Given the description of an element on the screen output the (x, y) to click on. 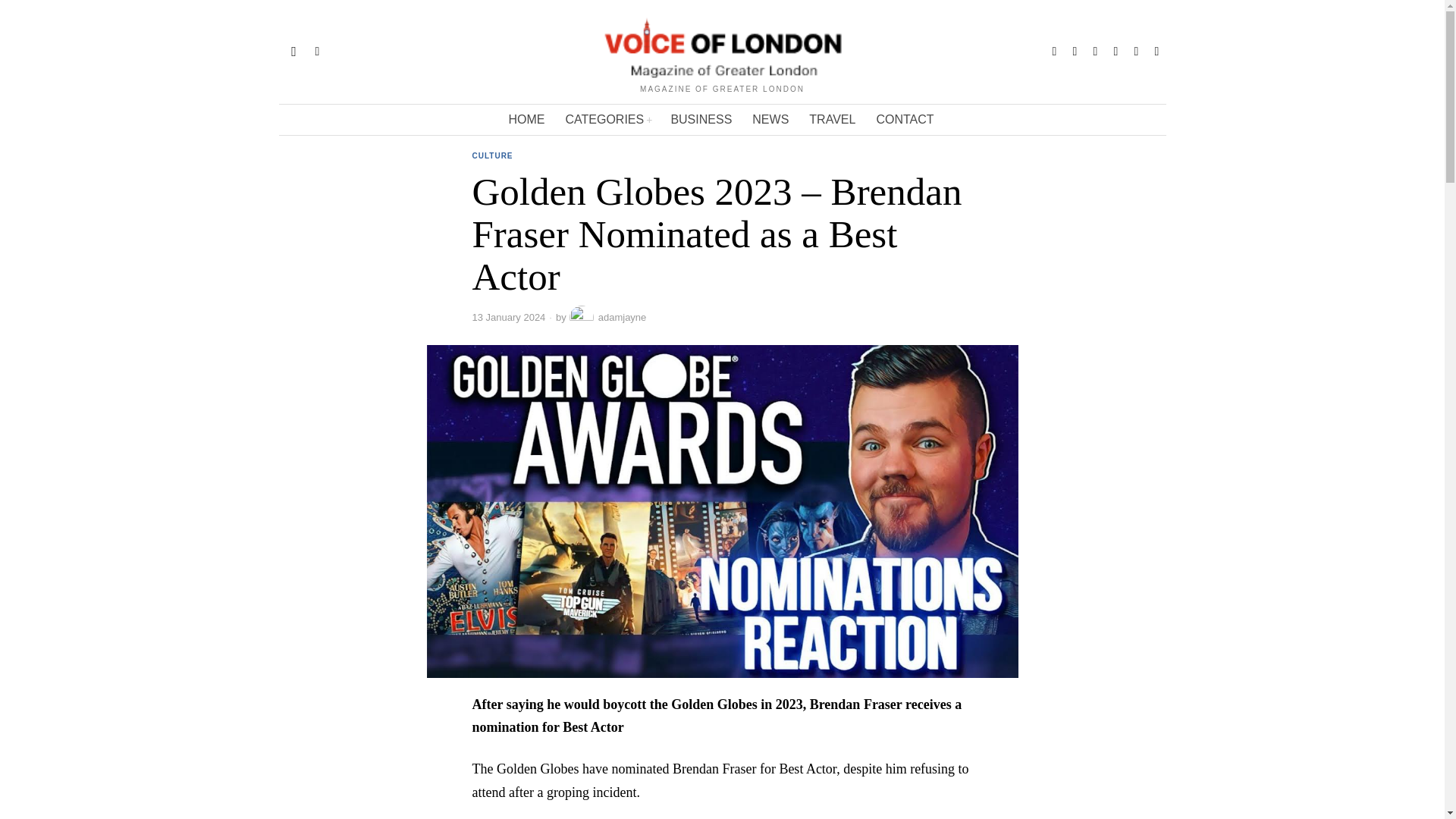
CONTACT (905, 119)
13 Jan, 2024 11:35:40 (507, 317)
NEWS (770, 119)
HOME (527, 119)
adamjayne (607, 317)
BUSINESS (701, 119)
TRAVEL (832, 119)
CULTURE (491, 156)
CATEGORIES (608, 119)
